Given the description of an element on the screen output the (x, y) to click on. 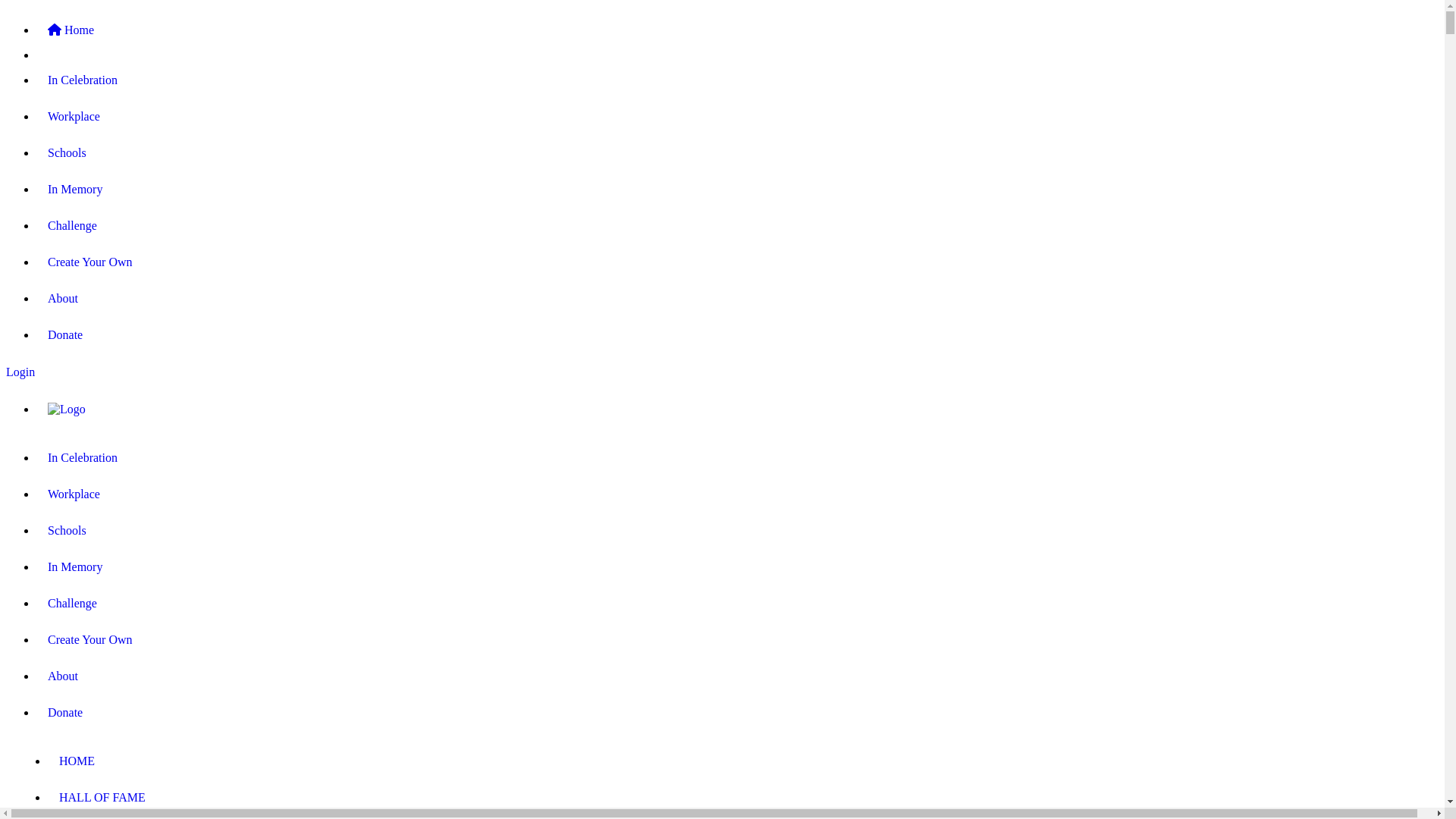
In Celebration Element type: text (737, 457)
HOME Element type: text (737, 761)
Home Element type: text (737, 30)
In Memory Element type: text (737, 189)
Logo Element type: hover (737, 409)
Challenge Element type: text (737, 603)
HALL OF FAME Element type: text (737, 797)
Workplace Element type: text (737, 116)
In Celebration Element type: text (737, 80)
Create Your Own Element type: text (737, 262)
Workplace Element type: text (737, 494)
Challenge Element type: text (737, 225)
Login Element type: text (722, 372)
About Element type: text (737, 298)
In Memory Element type: text (737, 567)
Schools Element type: text (737, 152)
About Element type: text (737, 676)
Create Your Own Element type: text (737, 639)
Schools Element type: text (737, 530)
Donate Element type: text (737, 712)
Donate Element type: text (737, 334)
